Given the description of an element on the screen output the (x, y) to click on. 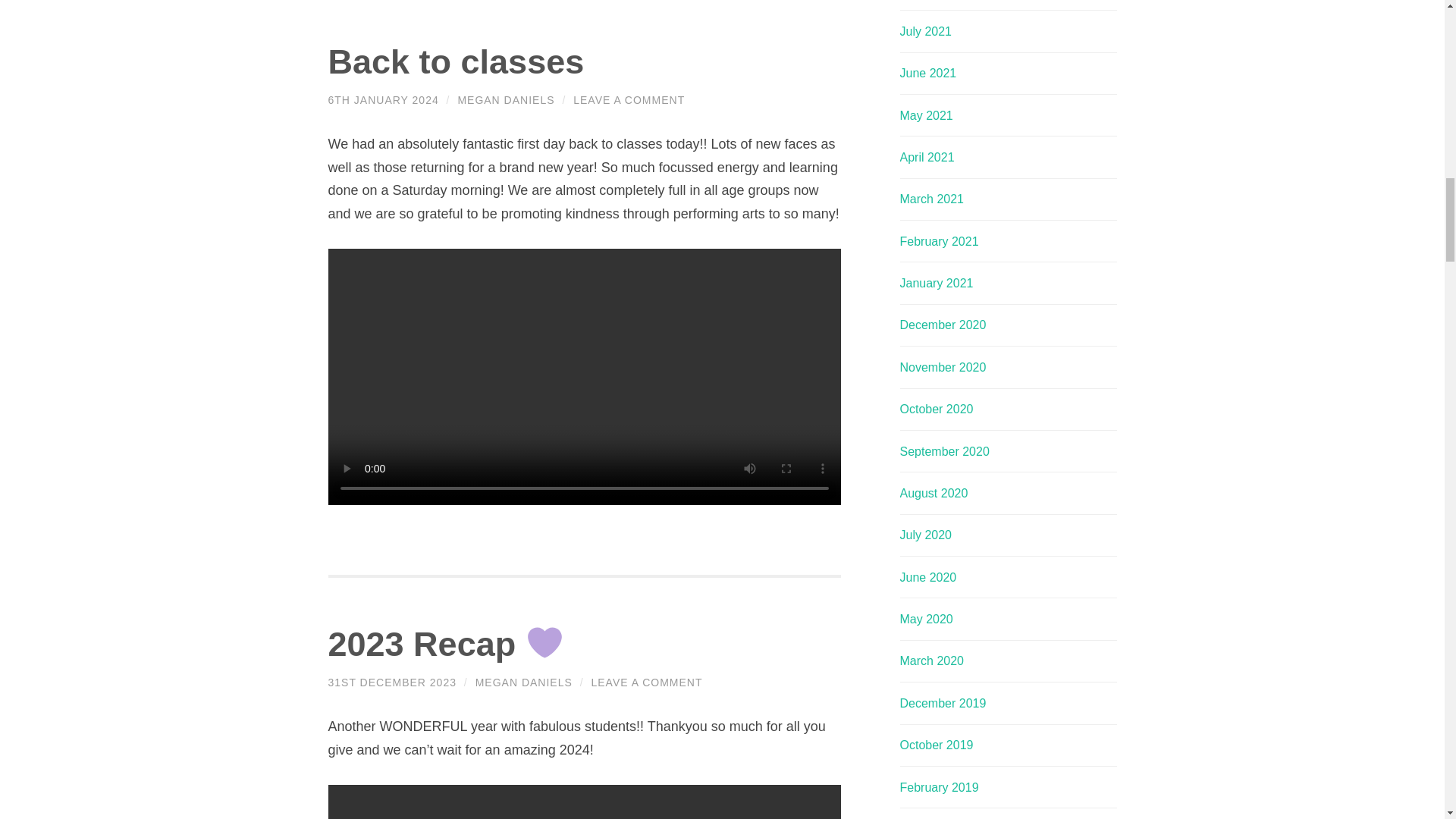
Back to classes (455, 61)
LEAVE A COMMENT (628, 100)
MEGAN DANIELS (524, 682)
31ST DECEMBER 2023 (391, 682)
2023 Recap (445, 643)
MEGAN DANIELS (505, 100)
6TH JANUARY 2024 (382, 100)
LEAVE A COMMENT (646, 682)
